Given the description of an element on the screen output the (x, y) to click on. 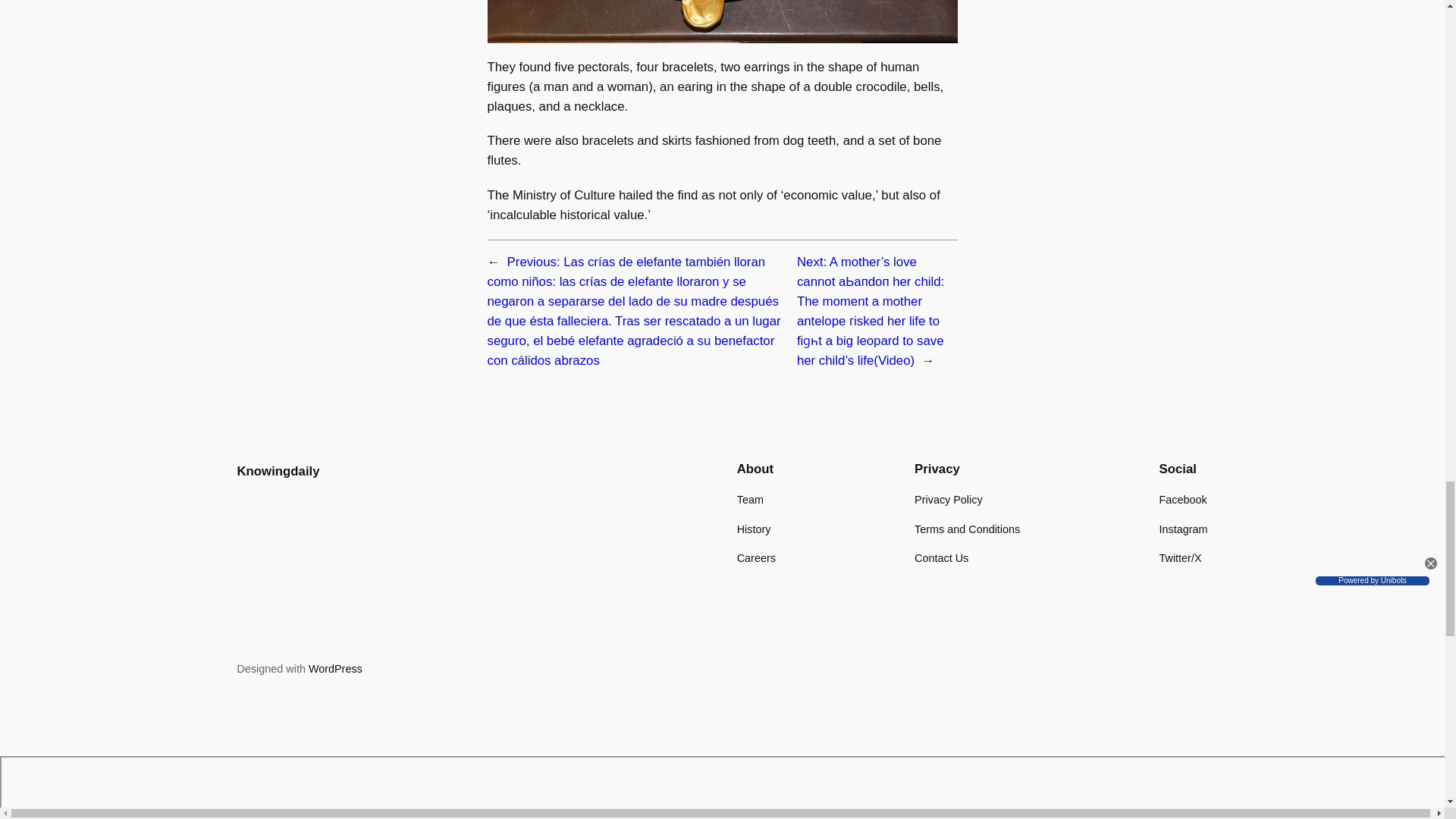
Facebook (1182, 499)
Team (749, 499)
WordPress (335, 668)
Contact Us (941, 557)
History (753, 528)
Knowingdaily (276, 471)
Privacy Policy (948, 499)
Terms and Conditions (967, 528)
Careers (756, 557)
Instagram (1182, 528)
